Given the description of an element on the screen output the (x, y) to click on. 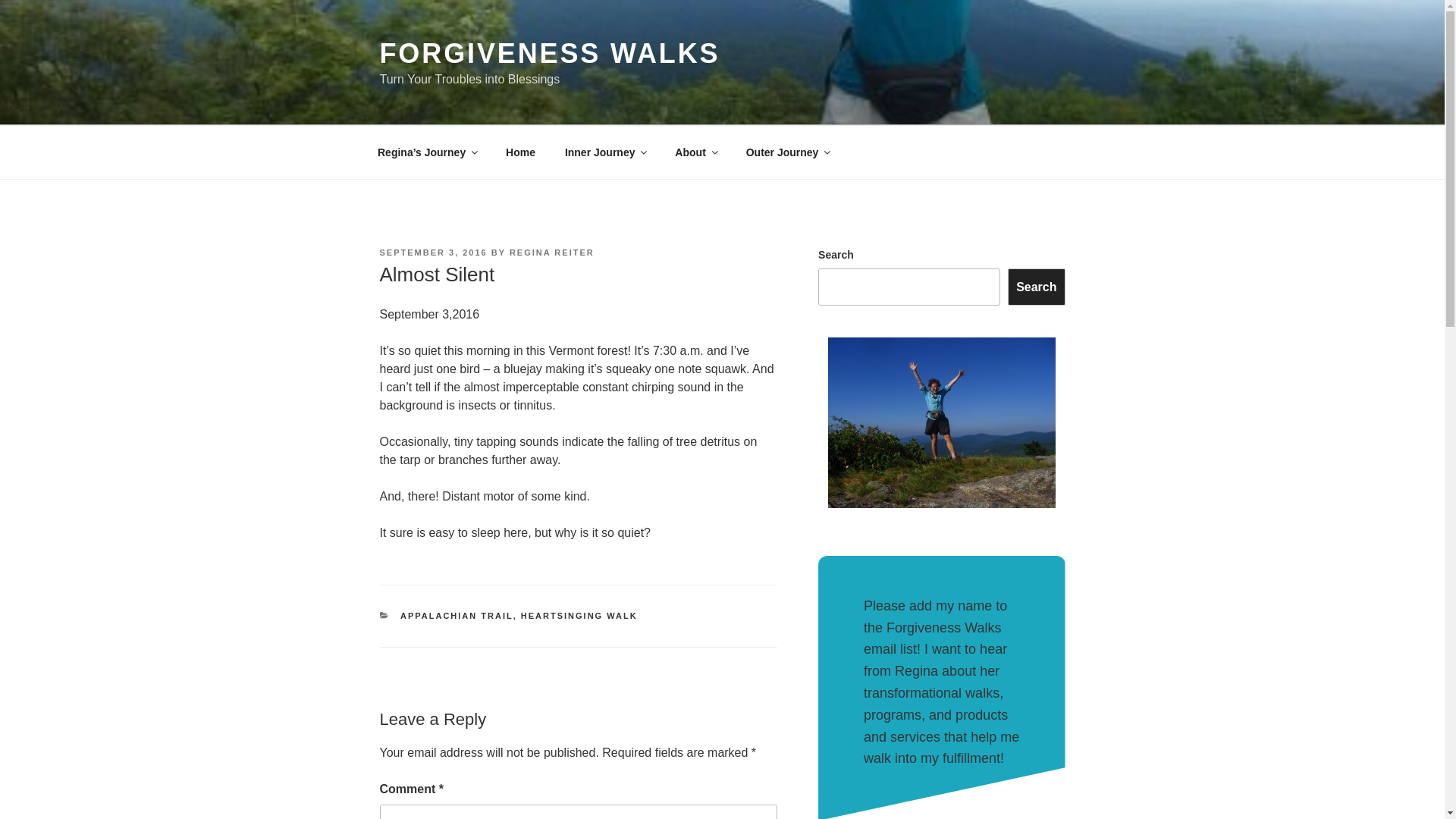
SEPTEMBER 3, 2016 (432, 252)
Outer Journey (787, 151)
Inner Journey (605, 151)
Home (520, 151)
APPALACHIAN TRAIL (456, 614)
FORGIVENESS WALKS (548, 52)
About (695, 151)
REGINA REITER (551, 252)
